Given the description of an element on the screen output the (x, y) to click on. 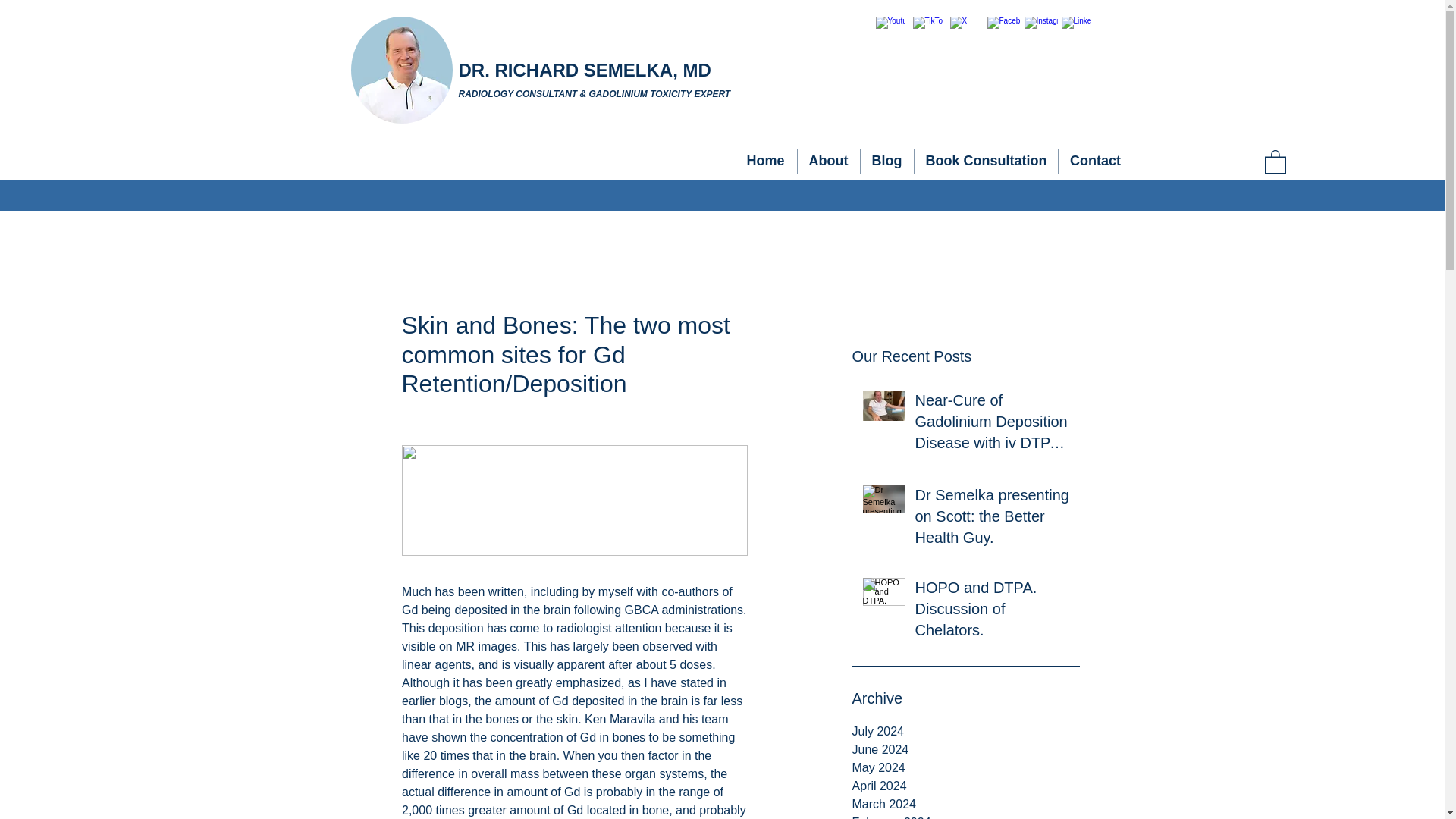
June 2024 (965, 750)
Home (764, 160)
April 2024 (965, 786)
Blog (886, 160)
Dr Semelka presenting on Scott: the Better Health Guy. (992, 519)
Book Consultation (986, 160)
Contact (1095, 160)
DR. RICHARD SEMELKA, MD (584, 69)
February 2024 (965, 816)
May 2024 (965, 768)
HOPO and DTPA. Discussion of Chelators. (992, 612)
July 2024 (965, 731)
March 2024 (965, 804)
